Given the description of an element on the screen output the (x, y) to click on. 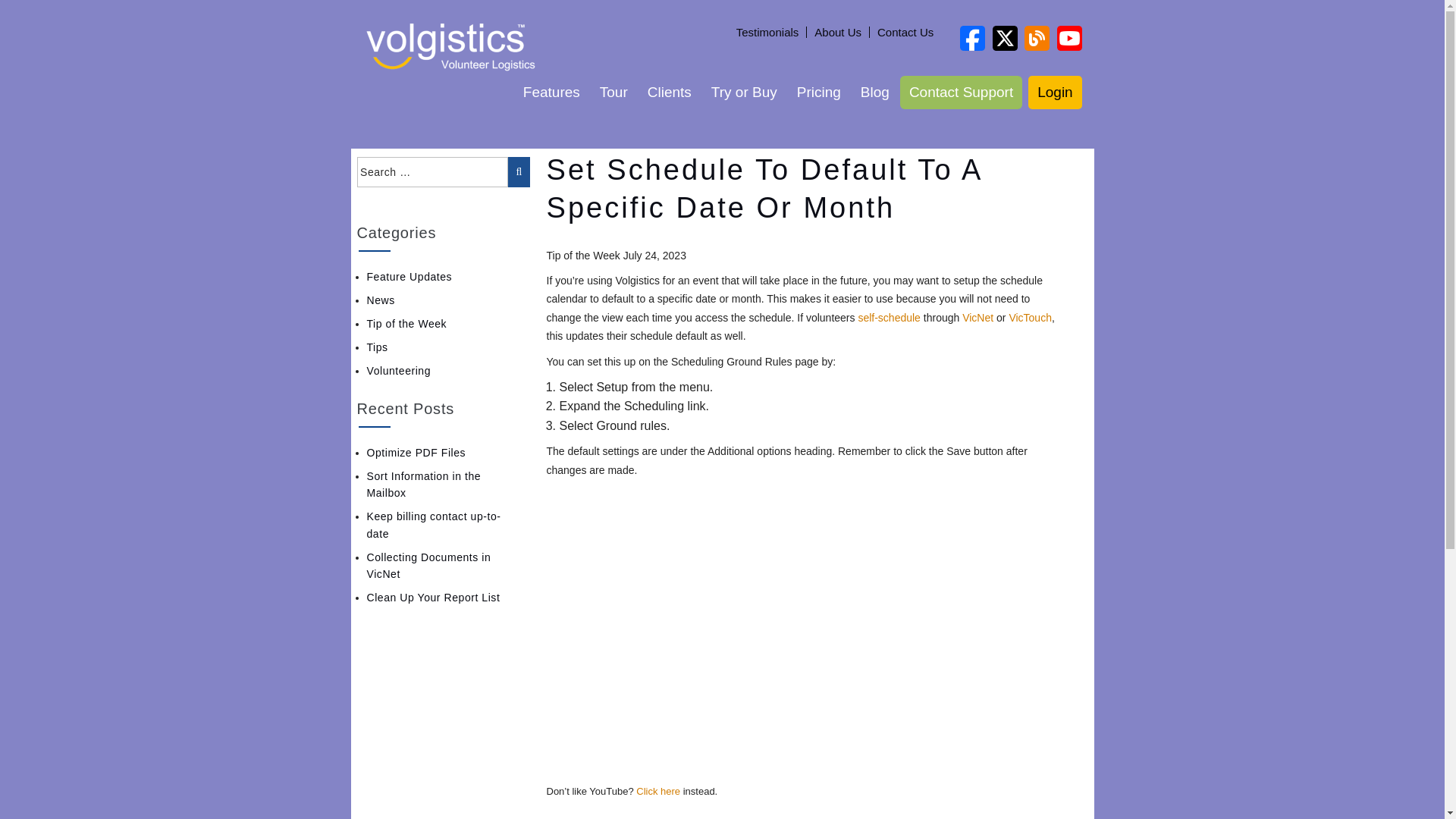
Features (551, 92)
Tour (614, 92)
Clients (669, 92)
